Given the description of an element on the screen output the (x, y) to click on. 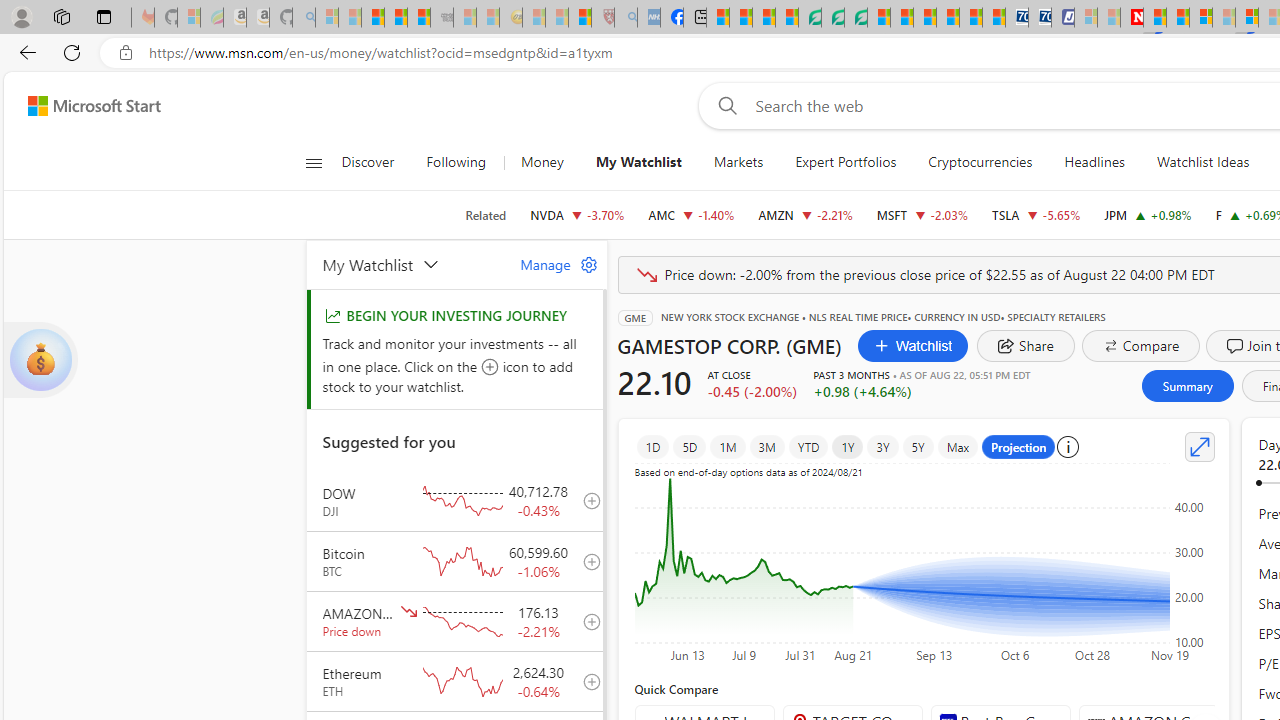
Local - MSN (580, 17)
Watchlist (912, 345)
show card (40, 359)
3Y (882, 446)
5Y (918, 446)
